Given the description of an element on the screen output the (x, y) to click on. 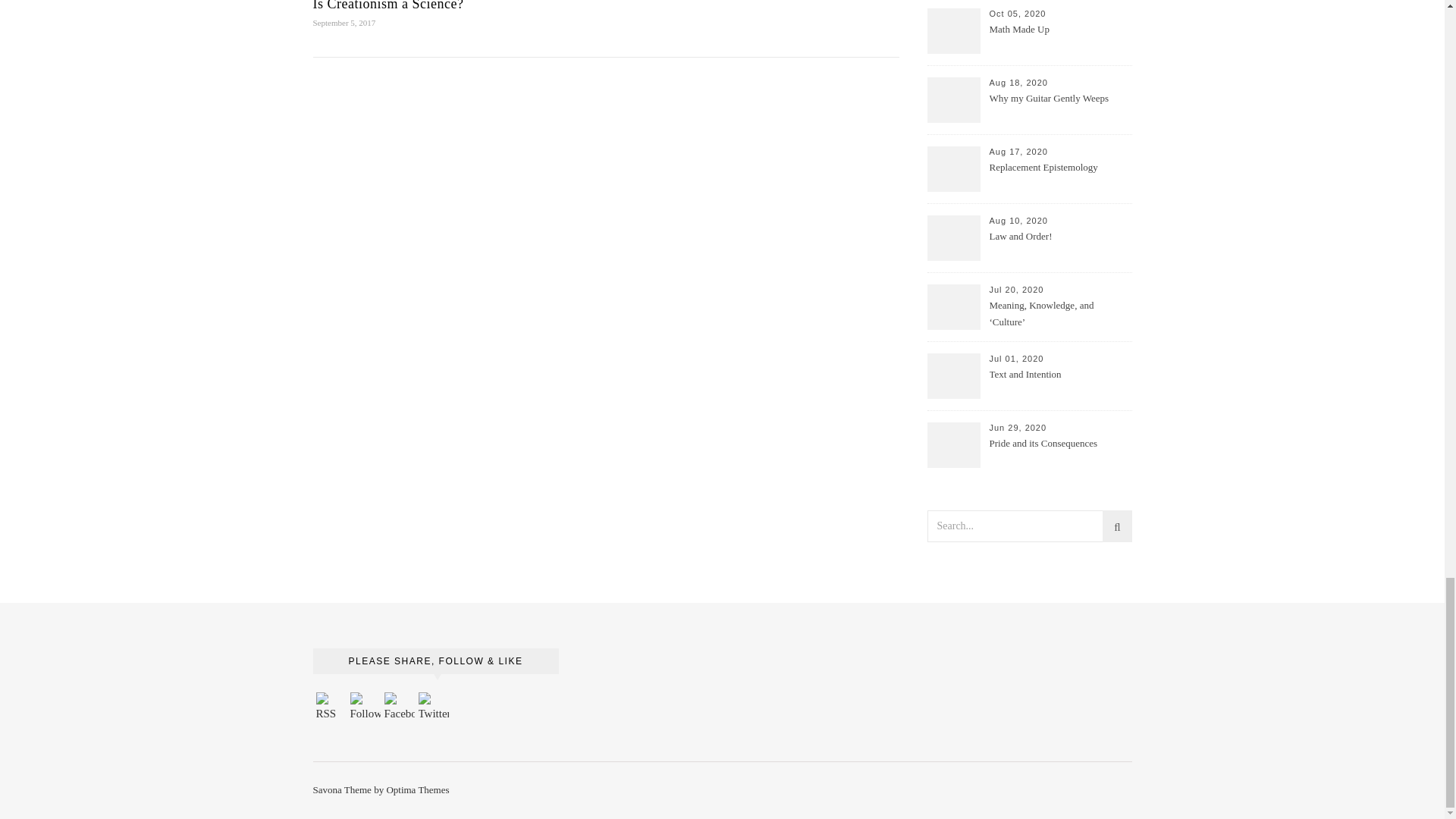
Is Creationism a Science? (388, 5)
Facebook (398, 707)
Twitter (433, 707)
RSS (330, 707)
Follow by Email (365, 707)
